Given the description of an element on the screen output the (x, y) to click on. 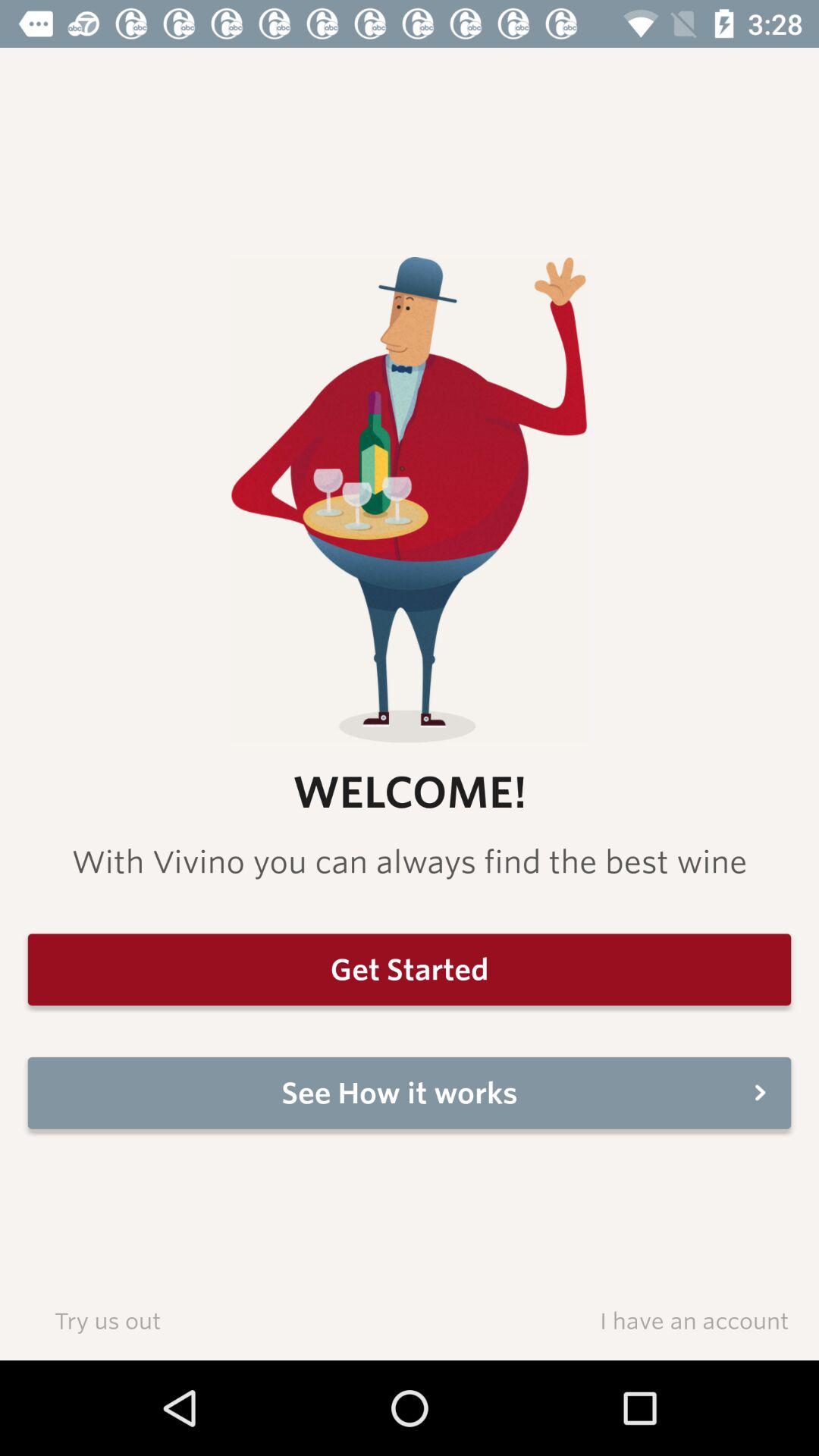
choose the try us out item (107, 1320)
